Given the description of an element on the screen output the (x, y) to click on. 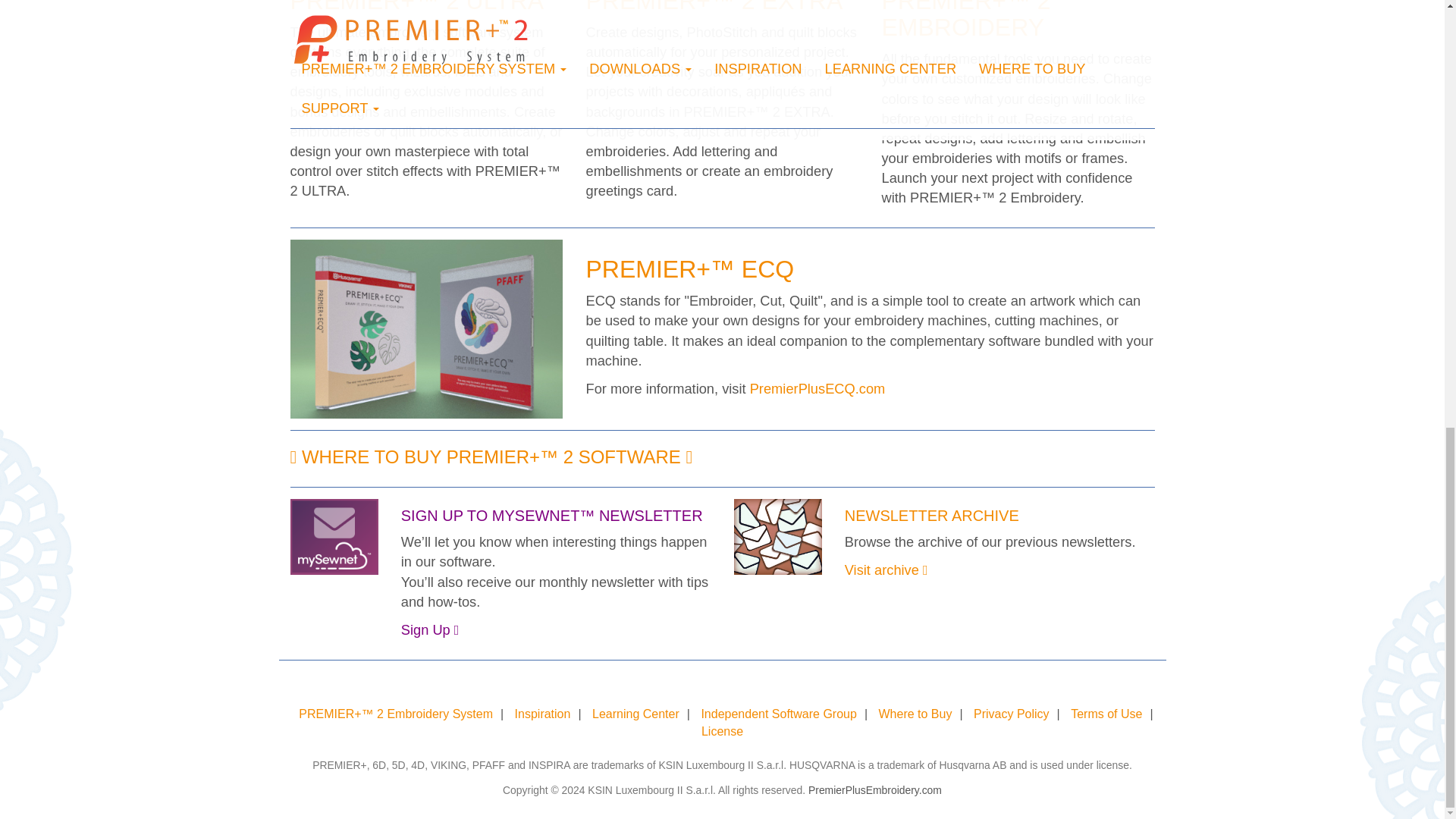
PremierPlusECQ.com (817, 388)
